Given the description of an element on the screen output the (x, y) to click on. 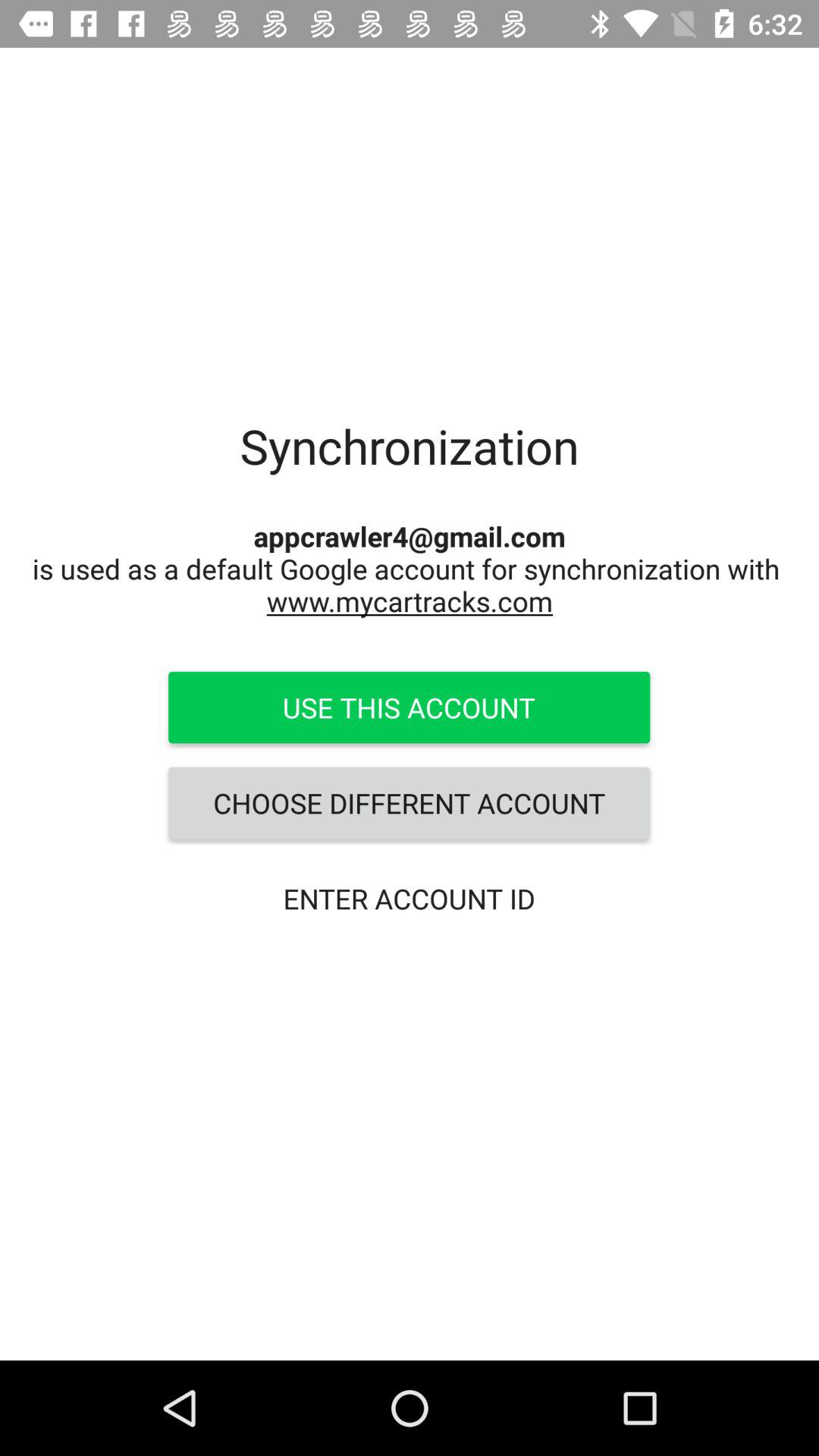
swipe until the choose different account icon (409, 802)
